Given the description of an element on the screen output the (x, y) to click on. 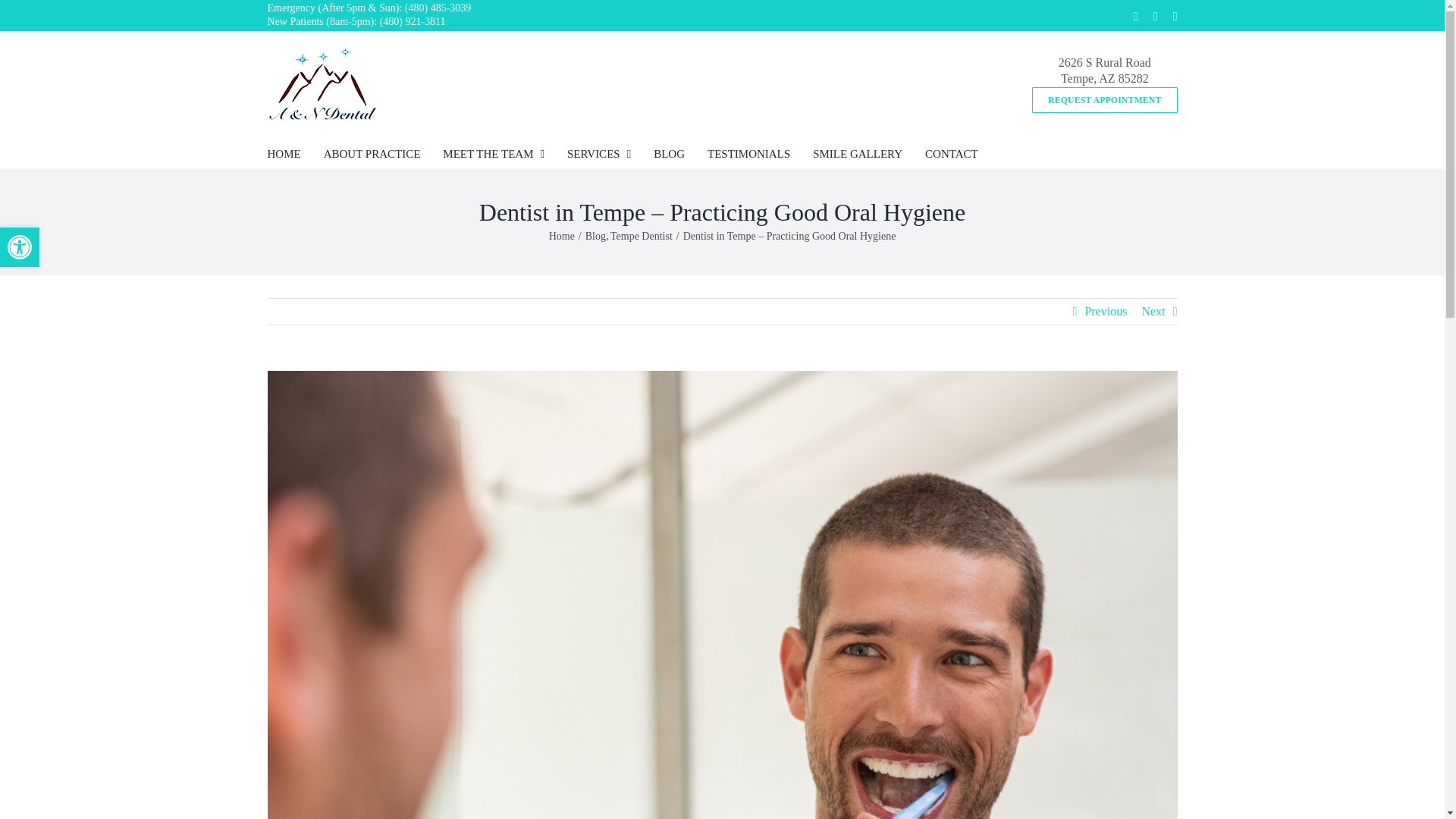
SERVICES (598, 153)
Decrease Text (19, 246)
Instagram (1136, 16)
Negative Contrast (1155, 16)
